Given the description of an element on the screen output the (x, y) to click on. 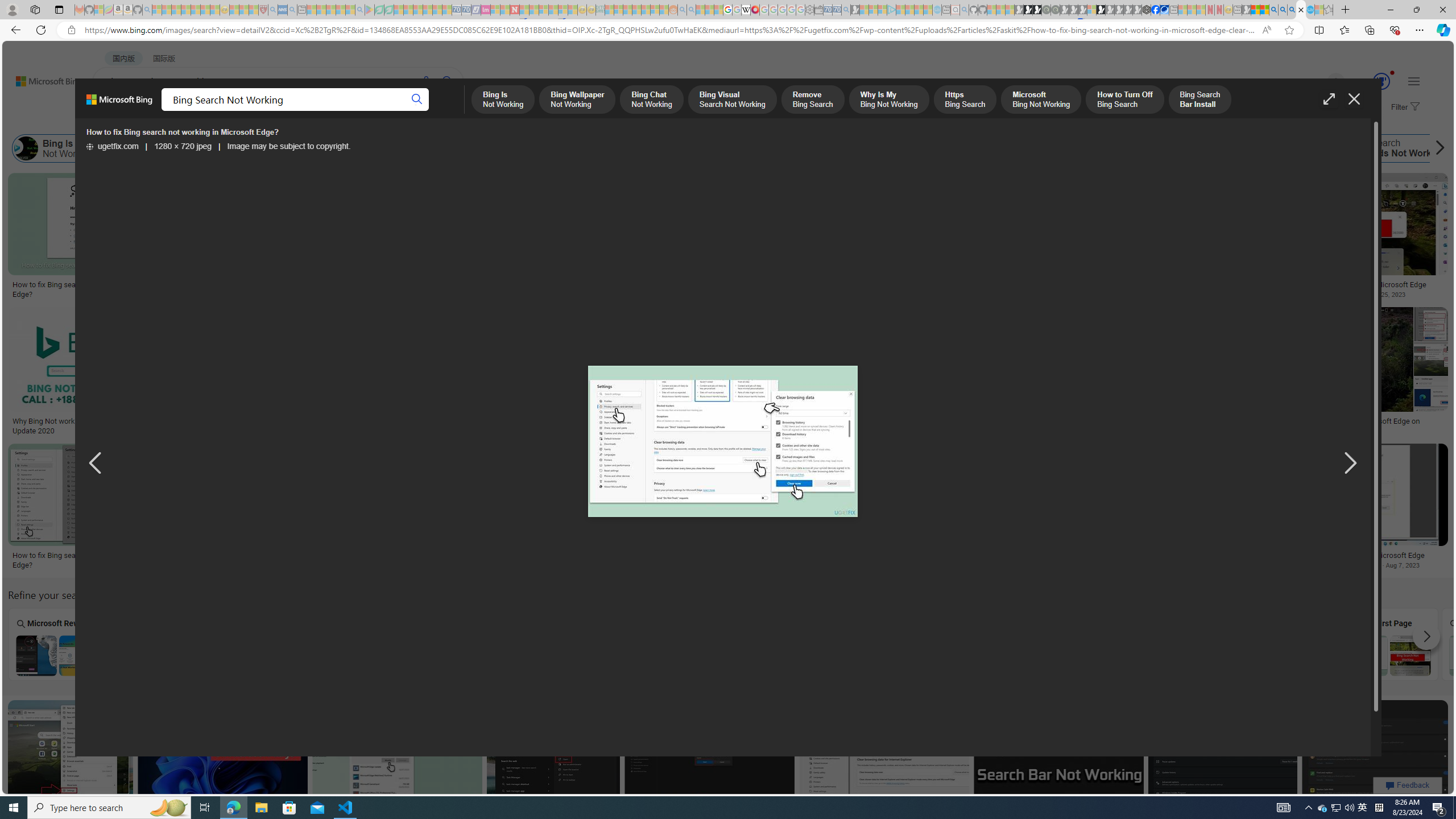
Animation (1392, 72)
Video (877, 643)
Crosby Christmas Album (809, 212)
github - Search - Sleeping (964, 9)
1:19 (156, 710)
AutomationID: serp_medal_svg (1381, 81)
Sign in to your account - Sleeping (1090, 9)
Image result for Bing Search Not Working (1374, 750)
Eugene (1319, 81)
White Bing Cherries (809, 280)
